Given the description of an element on the screen output the (x, y) to click on. 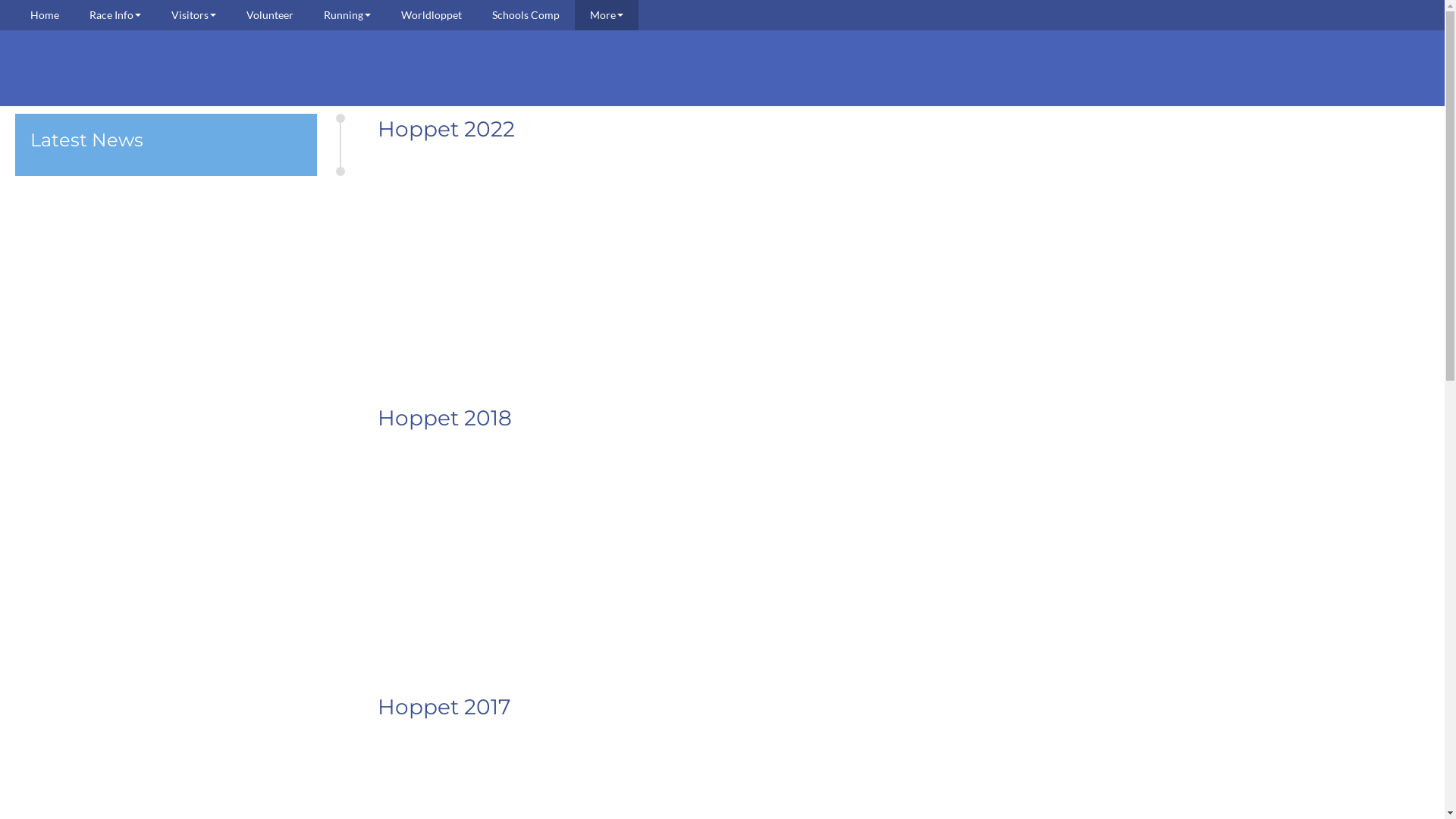
YouTube video player Element type: hover (903, 271)
Volunteer Element type: text (269, 15)
Worldloppet Element type: text (430, 15)
Hoppet 2022 Element type: text (445, 128)
Visitors Element type: text (193, 15)
Hoppet 2018 Element type: text (444, 417)
Running Element type: text (346, 15)
More Element type: text (606, 15)
Race Info Element type: text (115, 15)
Home Element type: text (44, 15)
Schools Comp Element type: text (525, 15)
Hoppet 2017 Element type: text (443, 706)
